Given the description of an element on the screen output the (x, y) to click on. 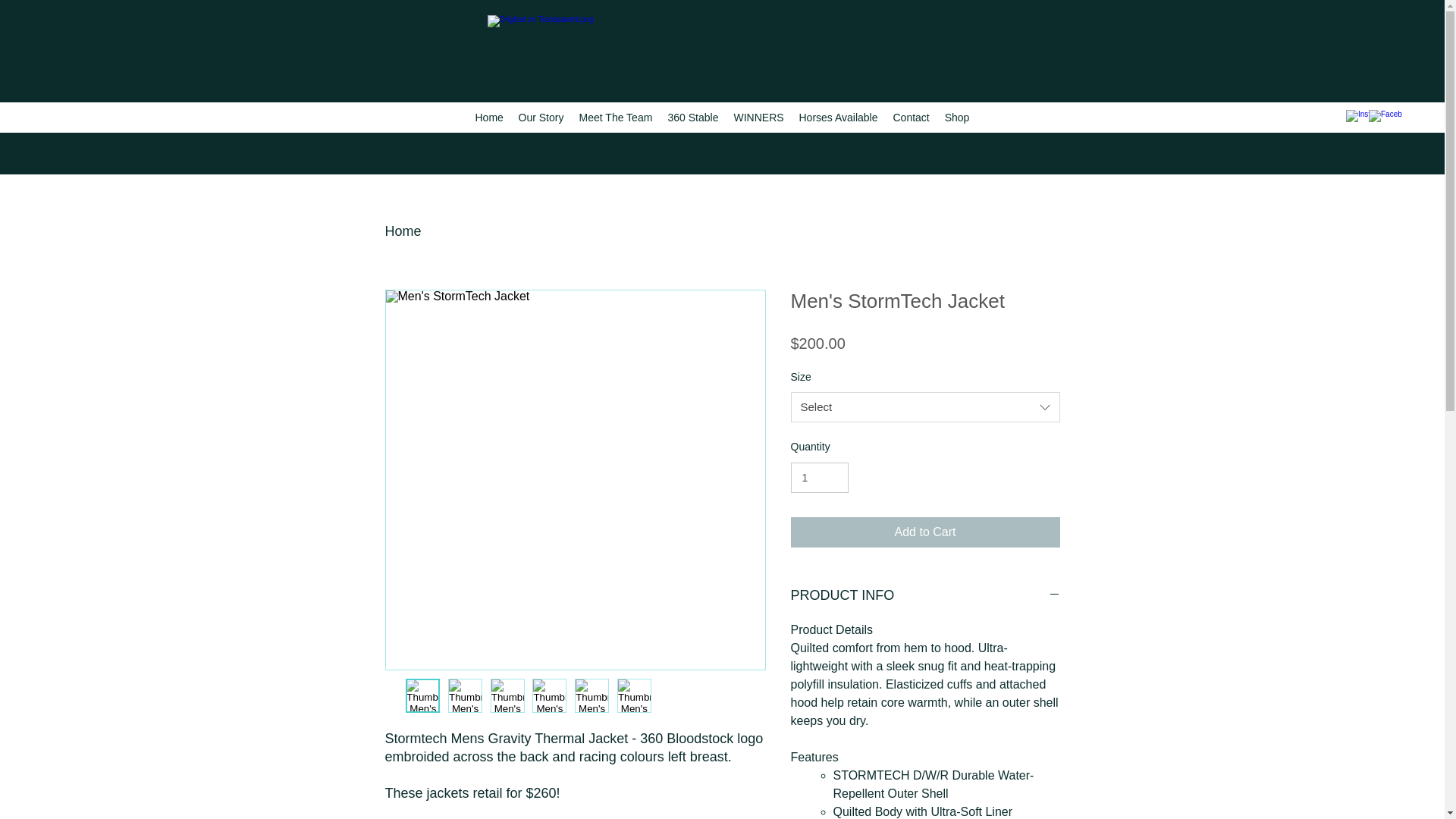
Select Element type: text (924, 407)
Meet The Team Element type: text (615, 117)
PRODUCT INFO Element type: text (924, 595)
360 Stable Element type: text (692, 117)
Our Story Element type: text (540, 117)
Horses Available Element type: text (837, 117)
Shop Element type: text (956, 117)
Contact Element type: text (910, 117)
Add to Cart Element type: text (924, 532)
WINNERS Element type: text (757, 117)
Home Element type: text (403, 230)
Home Element type: text (488, 117)
